Given the description of an element on the screen output the (x, y) to click on. 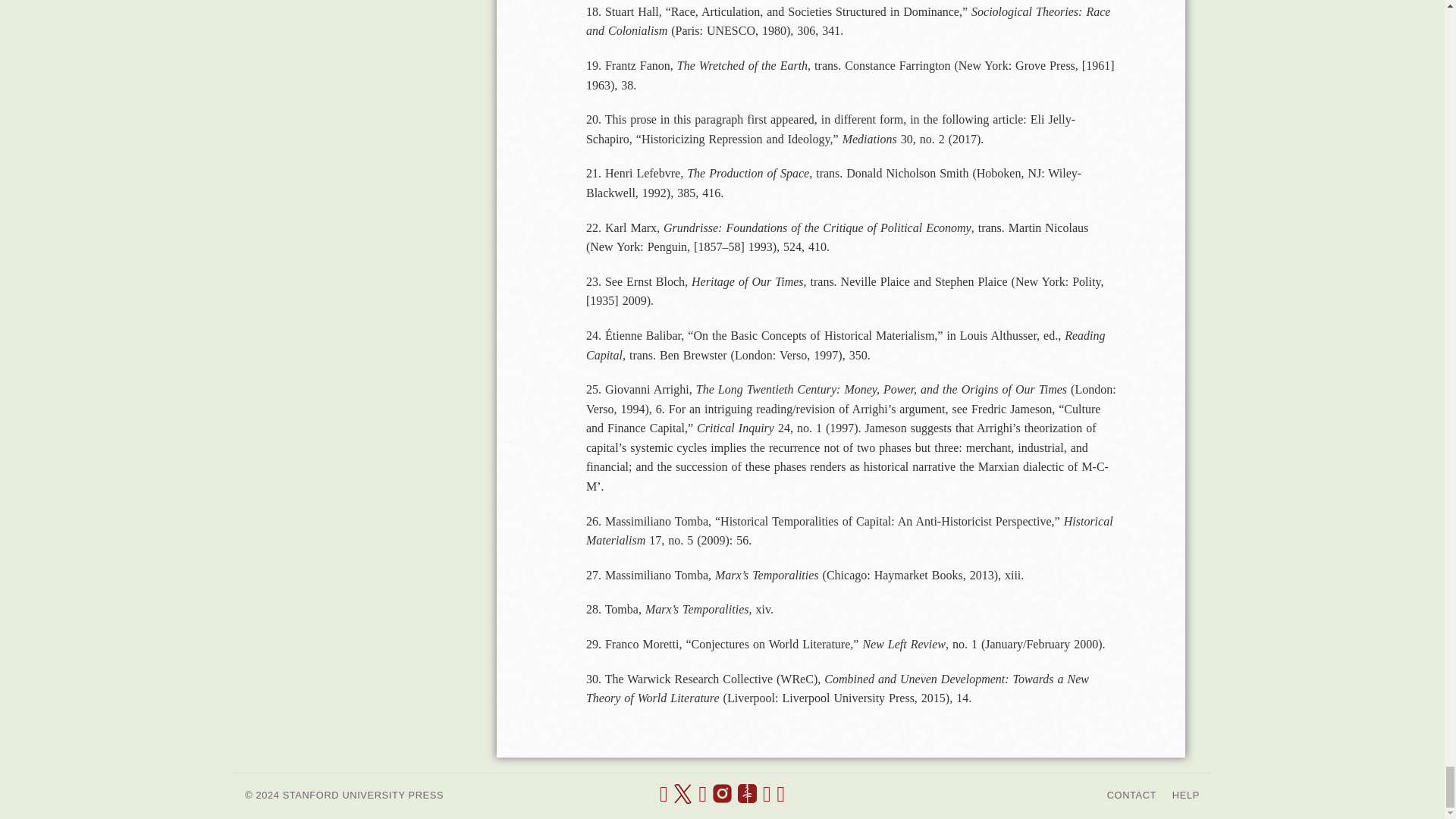
CONTACT (1131, 794)
HELP (1185, 794)
